Given the description of an element on the screen output the (x, y) to click on. 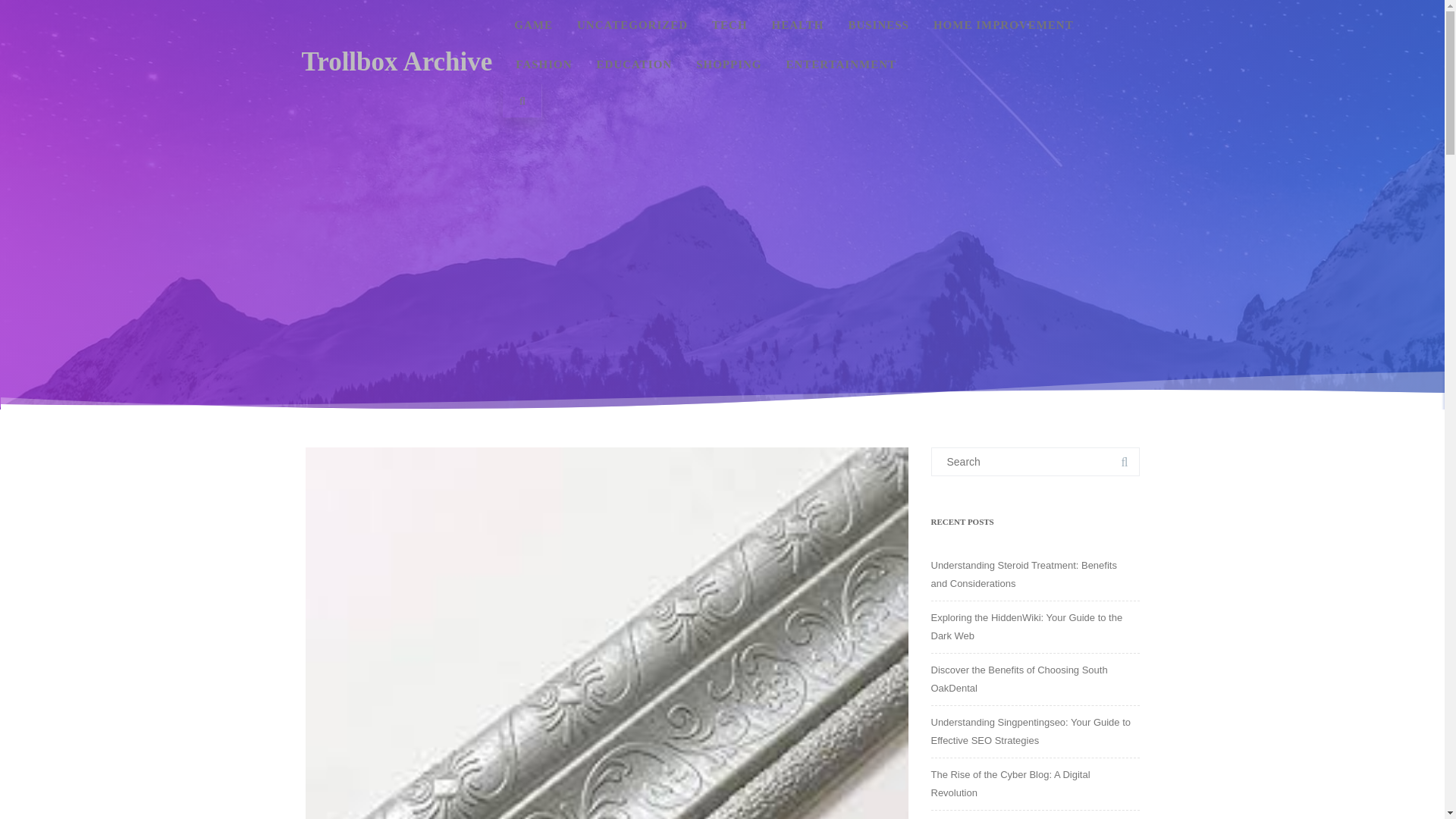
Trollbox Archive (397, 61)
HOME IMPROVEMENT (1002, 24)
The Rise of the Cyber Blog: A Digital Revolution (1010, 783)
UNCATEGORIZED (632, 24)
Exploring the HiddenWiki: Your Guide to the Dark Web (1026, 626)
Discover the Benefits of Choosing South OakDental (1019, 678)
Trollbox Archive (397, 61)
TECH (729, 24)
ENTERTAINMENT (840, 64)
Search for: (1035, 461)
